Given the description of an element on the screen output the (x, y) to click on. 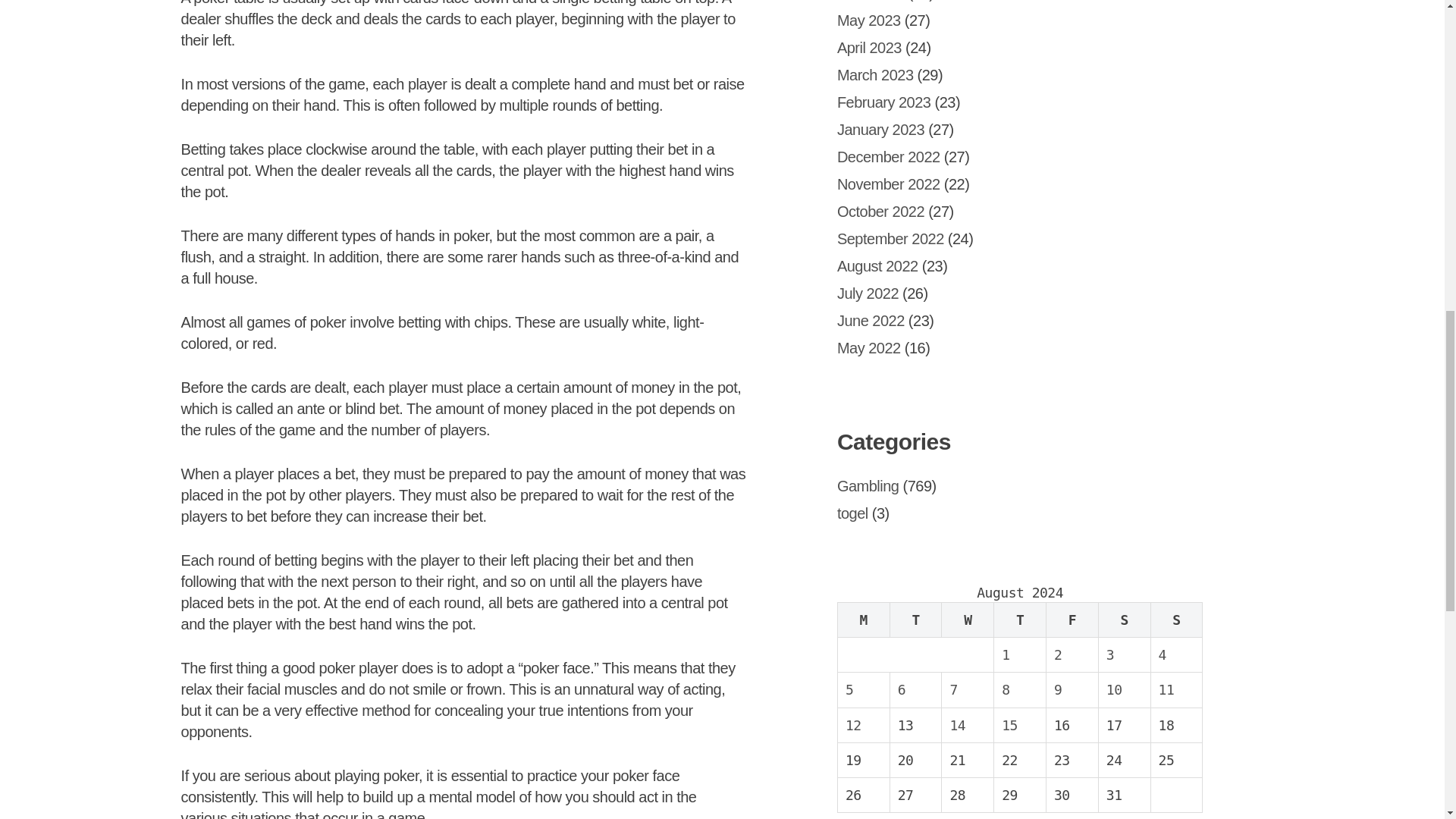
August 2022 (877, 265)
Tuesday (915, 619)
March 2023 (875, 74)
June 2023 (870, 0)
Saturday (1123, 619)
June 2022 (870, 320)
September 2022 (890, 238)
November 2022 (888, 184)
December 2022 (888, 156)
April 2023 (869, 47)
